Given the description of an element on the screen output the (x, y) to click on. 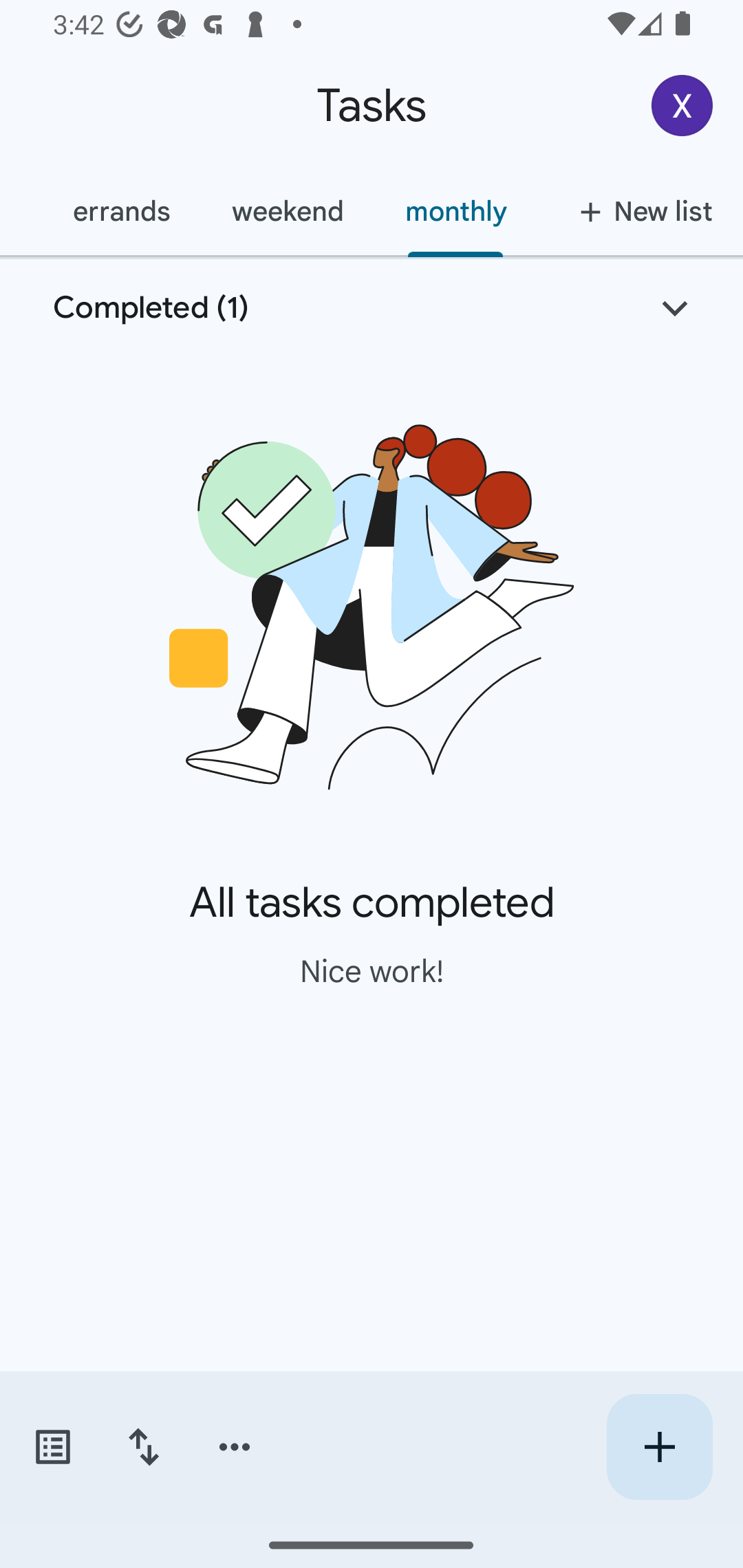
errands (120, 211)
weekend (287, 211)
New list (640, 211)
Completed (1) (371, 307)
Switch task lists (52, 1447)
Create new task (659, 1446)
Change sort order (143, 1446)
More options (234, 1446)
